Given the description of an element on the screen output the (x, y) to click on. 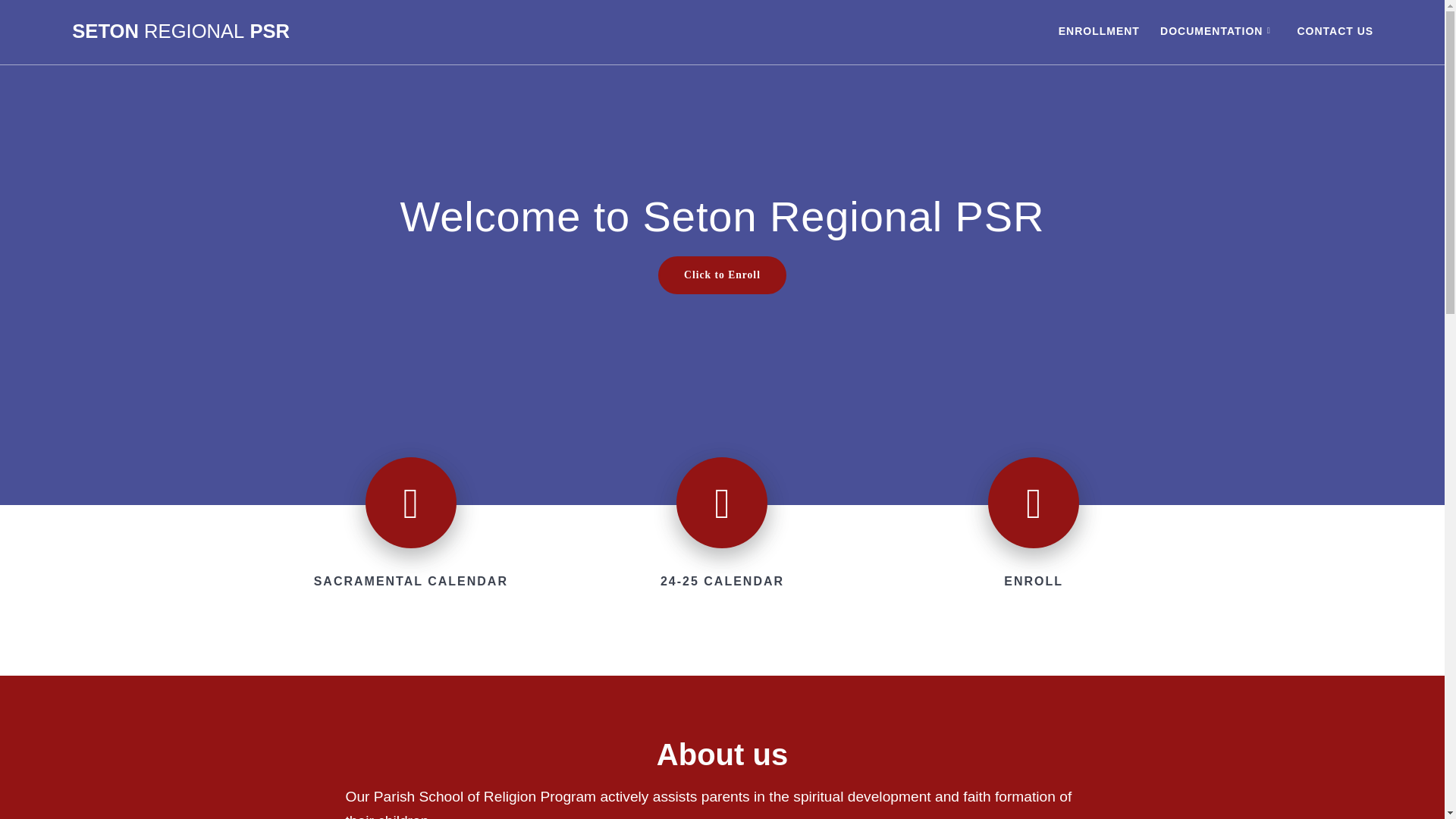
Click to Enroll (722, 275)
DOCUMENTATION (1218, 31)
CONTACT US (1335, 31)
SETON REGIONAL PSR (180, 31)
ENROLLMENT (1099, 31)
